Given the description of an element on the screen output the (x, y) to click on. 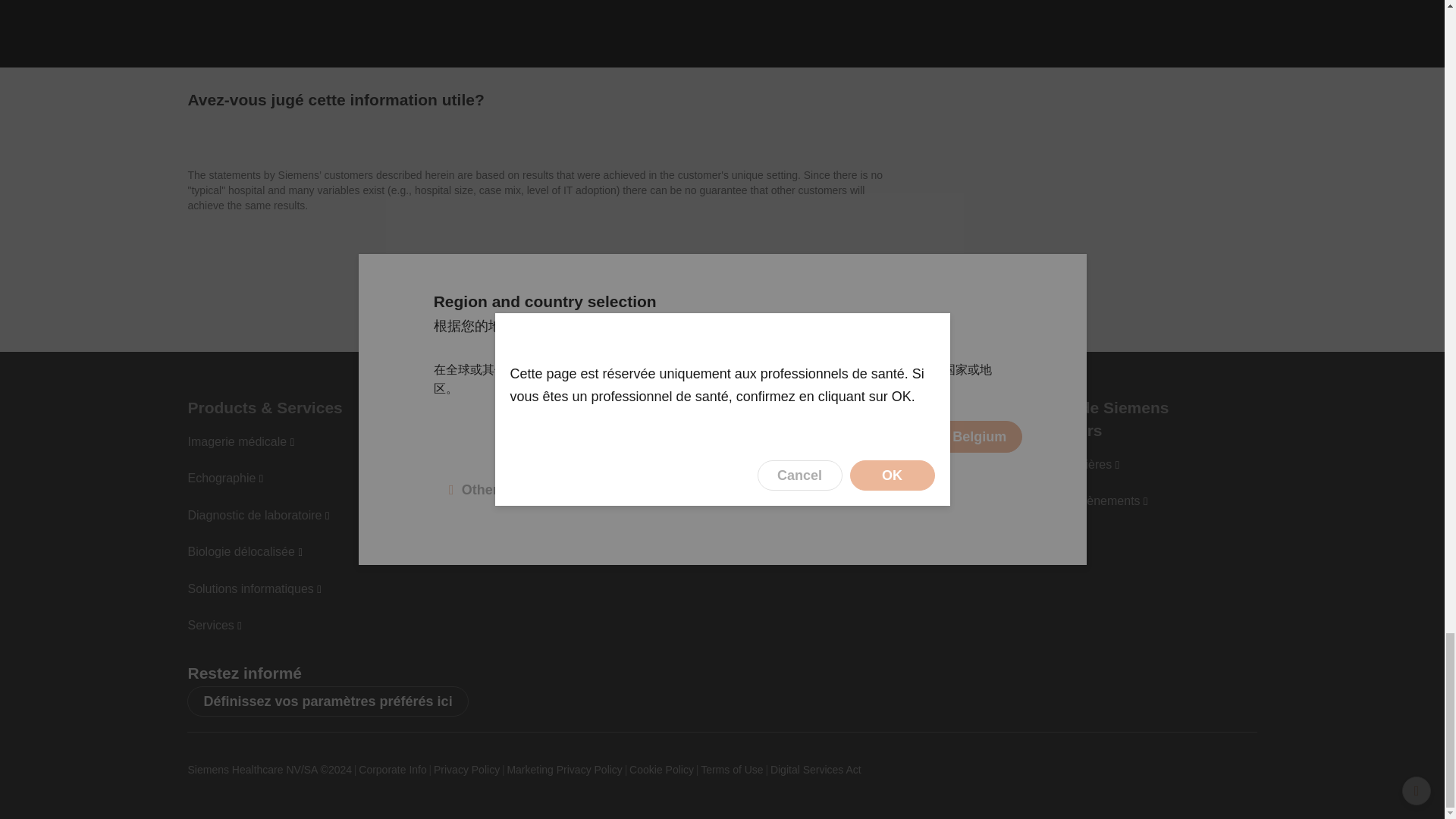
Confirm (17, 79)
